Given the description of an element on the screen output the (x, y) to click on. 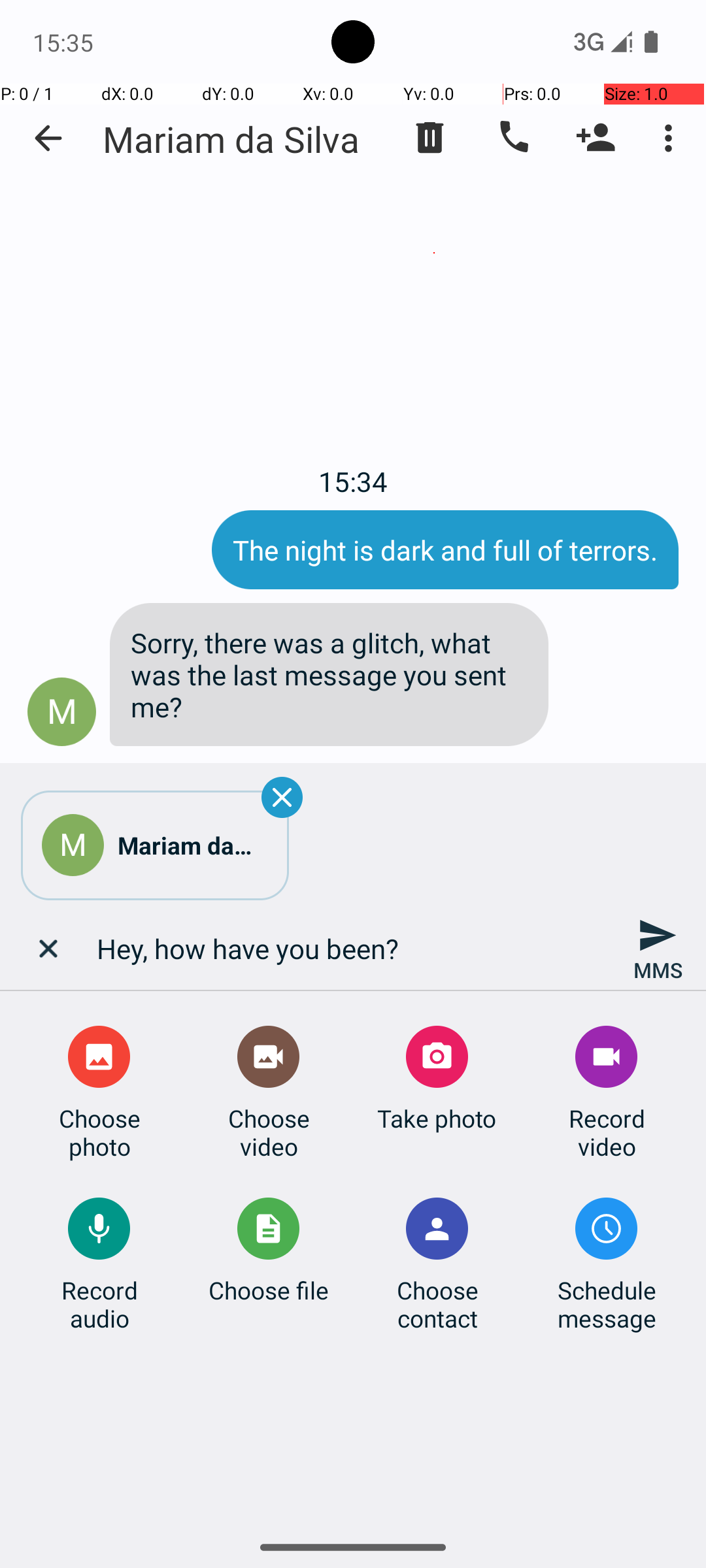
Mariam da Silva Element type: android.widget.TextView (230, 138)
Hey, how have you been? Element type: android.widget.EditText (352, 948)
MMS Element type: android.widget.Button (657, 948)
The night is dark and full of terrors. Element type: android.widget.TextView (444, 549)
Sorry, there was a glitch, what was the last message you sent me? Element type: android.widget.TextView (328, 674)
Choose photo Element type: android.widget.TextView (98, 1131)
Choose video Element type: android.widget.TextView (268, 1131)
Take photo Element type: android.widget.TextView (436, 1117)
Record video Element type: android.widget.TextView (606, 1131)
Record audio Element type: android.widget.TextView (98, 1303)
Choose file Element type: android.widget.TextView (268, 1289)
Choose contact Element type: android.widget.TextView (436, 1303)
Schedule message Element type: android.widget.TextView (606, 1303)
